Given the description of an element on the screen output the (x, y) to click on. 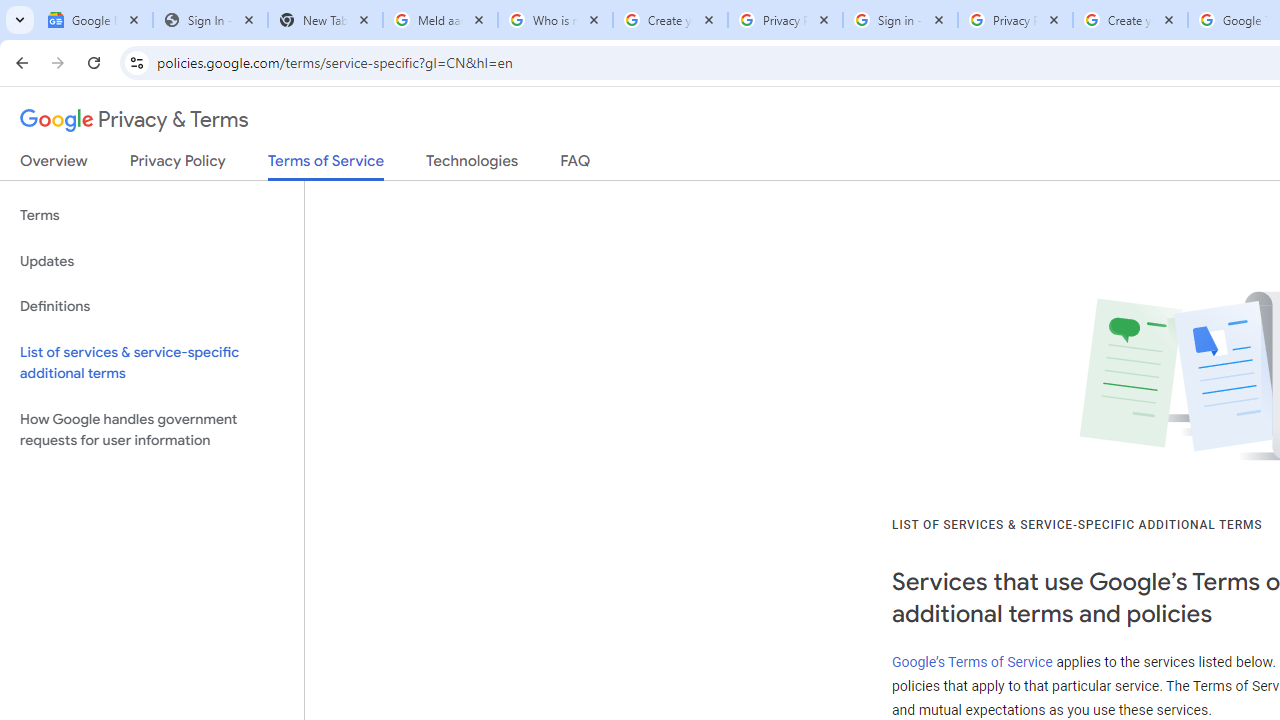
Google News (95, 20)
Create your Google Account (670, 20)
Sign In - USA TODAY (209, 20)
